Given the description of an element on the screen output the (x, y) to click on. 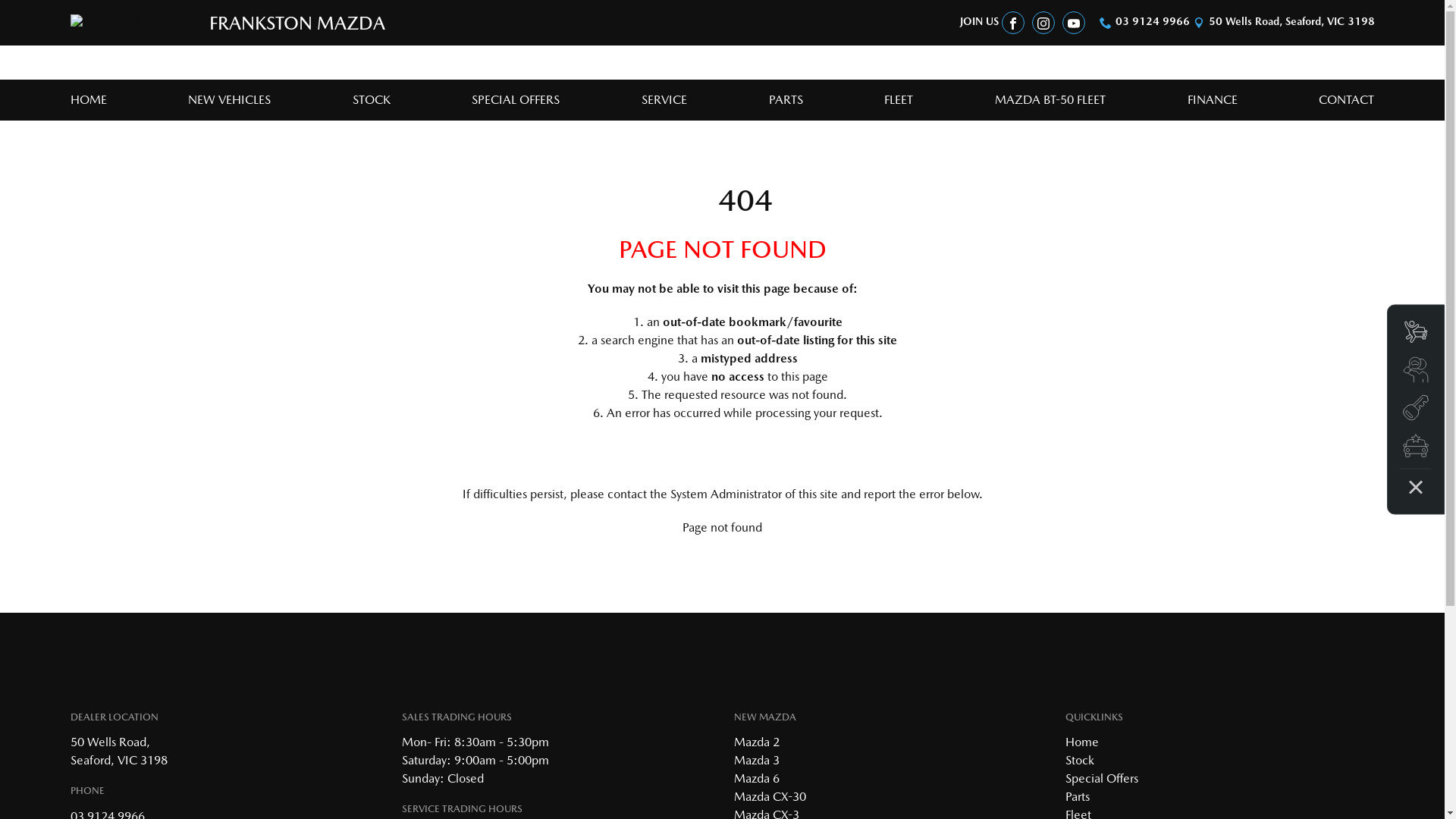
STOCK Element type: text (371, 99)
Mazda CX-30 Element type: text (770, 796)
HOME Element type: text (95, 99)
Home Element type: text (1081, 741)
FLEET Element type: text (898, 99)
HOME PAGE Element type: text (721, 452)
CONTACT Element type: text (1338, 99)
SPECIAL OFFERS Element type: text (515, 99)
Special Offers Element type: text (1101, 778)
Parts Element type: text (1077, 796)
Stock Element type: text (1079, 760)
FRANKSTON MAZDA Element type: text (226, 21)
Mazda 6 Element type: text (756, 778)
NEW VEHICLES Element type: text (228, 99)
PARTS Element type: text (785, 99)
03 9124 9966 Element type: text (1151, 21)
MAZDA BT-50 FLEET Element type: text (1049, 99)
Mazda 3 Element type: text (756, 760)
FINANCE Element type: text (1212, 99)
Mazda 2 Element type: text (756, 741)
SERVICE Element type: text (664, 99)
50 Wells Road, Seaford, VIC 3198 Element type: text (1291, 21)
